Given the description of an element on the screen output the (x, y) to click on. 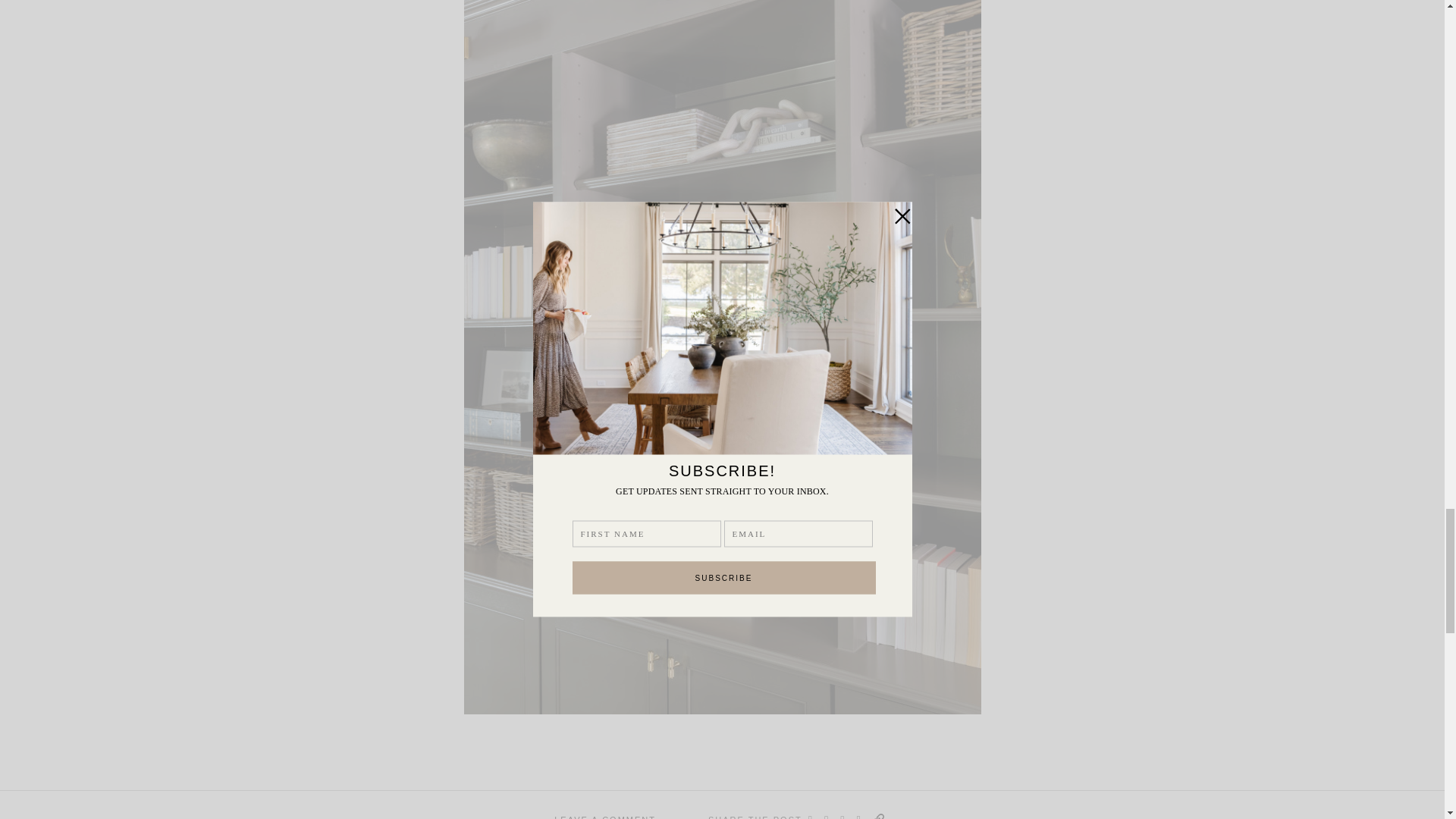
LEAVE A COMMENT (605, 816)
